Given the description of an element on the screen output the (x, y) to click on. 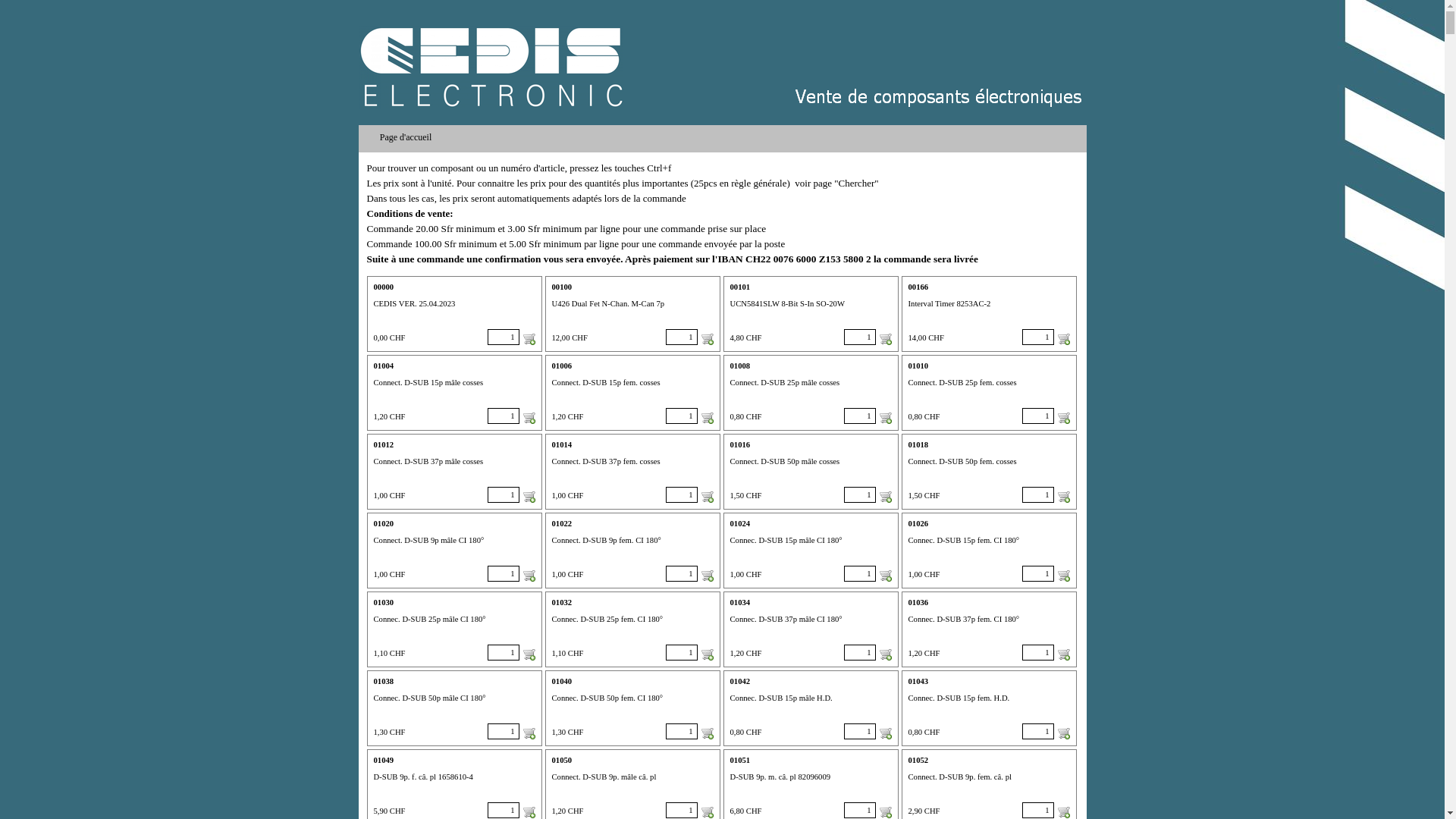
Ajouter Element type: hover (706, 812)
Ajouter Element type: hover (529, 812)
Ajouter Element type: hover (1063, 417)
Ajouter Element type: hover (1063, 733)
Ajouter Element type: hover (1063, 496)
Ajouter Element type: hover (1063, 575)
Page d'accueil Element type: text (407, 136)
Ajouter Element type: hover (885, 733)
Ajouter Element type: hover (706, 733)
Ajouter Element type: hover (1063, 812)
Ajouter Element type: hover (706, 496)
Ajouter Element type: hover (885, 654)
Ajouter Element type: hover (529, 575)
Ajouter Element type: hover (529, 496)
Ajouter Element type: hover (1063, 338)
Ajouter Element type: hover (706, 417)
Ajouter Element type: hover (885, 575)
Ajouter Element type: hover (706, 338)
Ajouter Element type: hover (706, 575)
Ajouter Element type: hover (529, 654)
Ajouter Element type: hover (706, 654)
Ajouter Element type: hover (529, 417)
Ajouter Element type: hover (529, 338)
Ajouter Element type: hover (529, 733)
Ajouter Element type: hover (885, 338)
Ajouter Element type: hover (885, 417)
Ajouter Element type: hover (885, 812)
Ajouter Element type: hover (1063, 654)
Ajouter Element type: hover (885, 496)
